Given the description of an element on the screen output the (x, y) to click on. 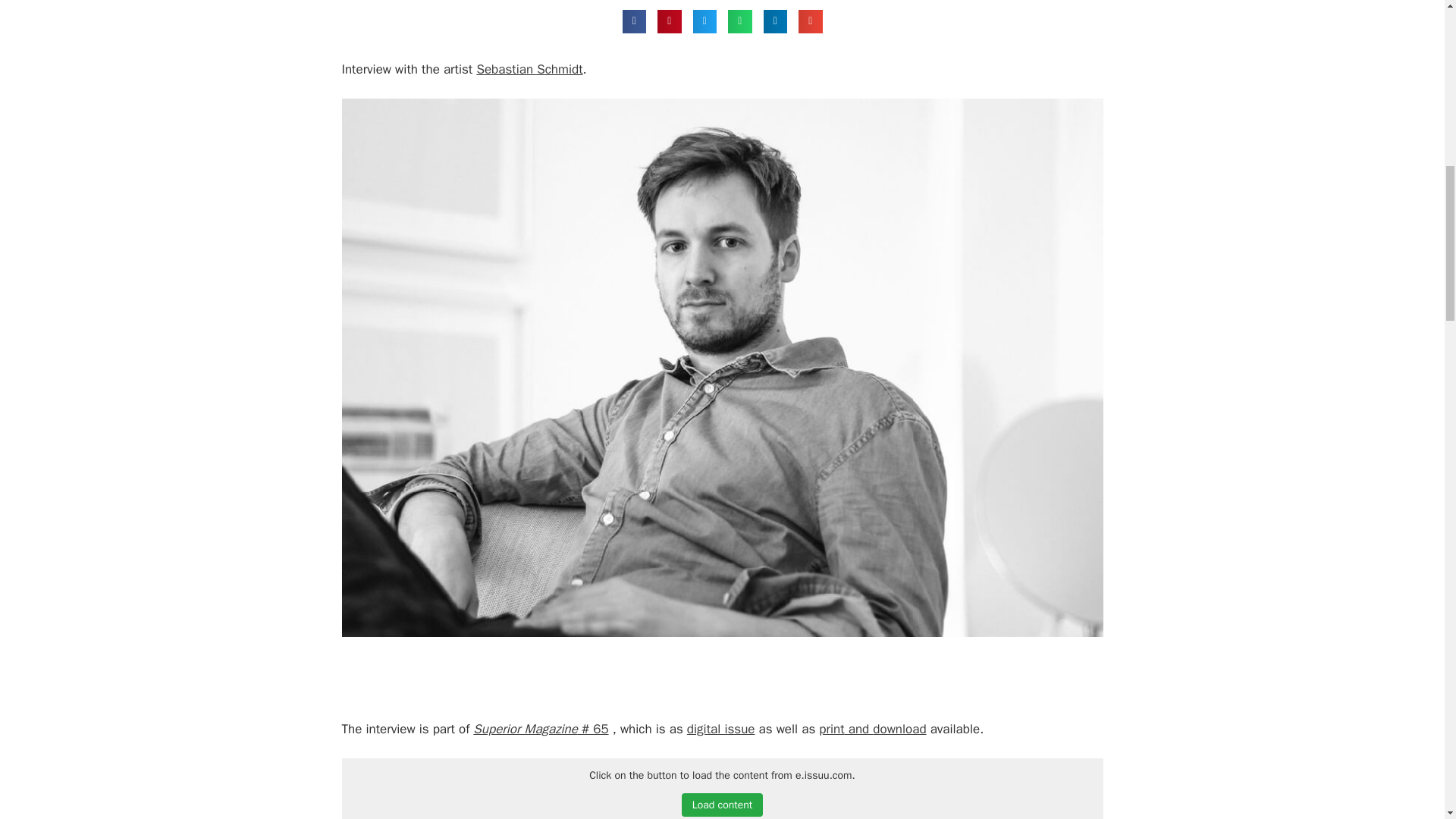
print and download (872, 729)
Load content (721, 805)
digital issue (721, 729)
Sebastian Schmidt (529, 68)
